Given the description of an element on the screen output the (x, y) to click on. 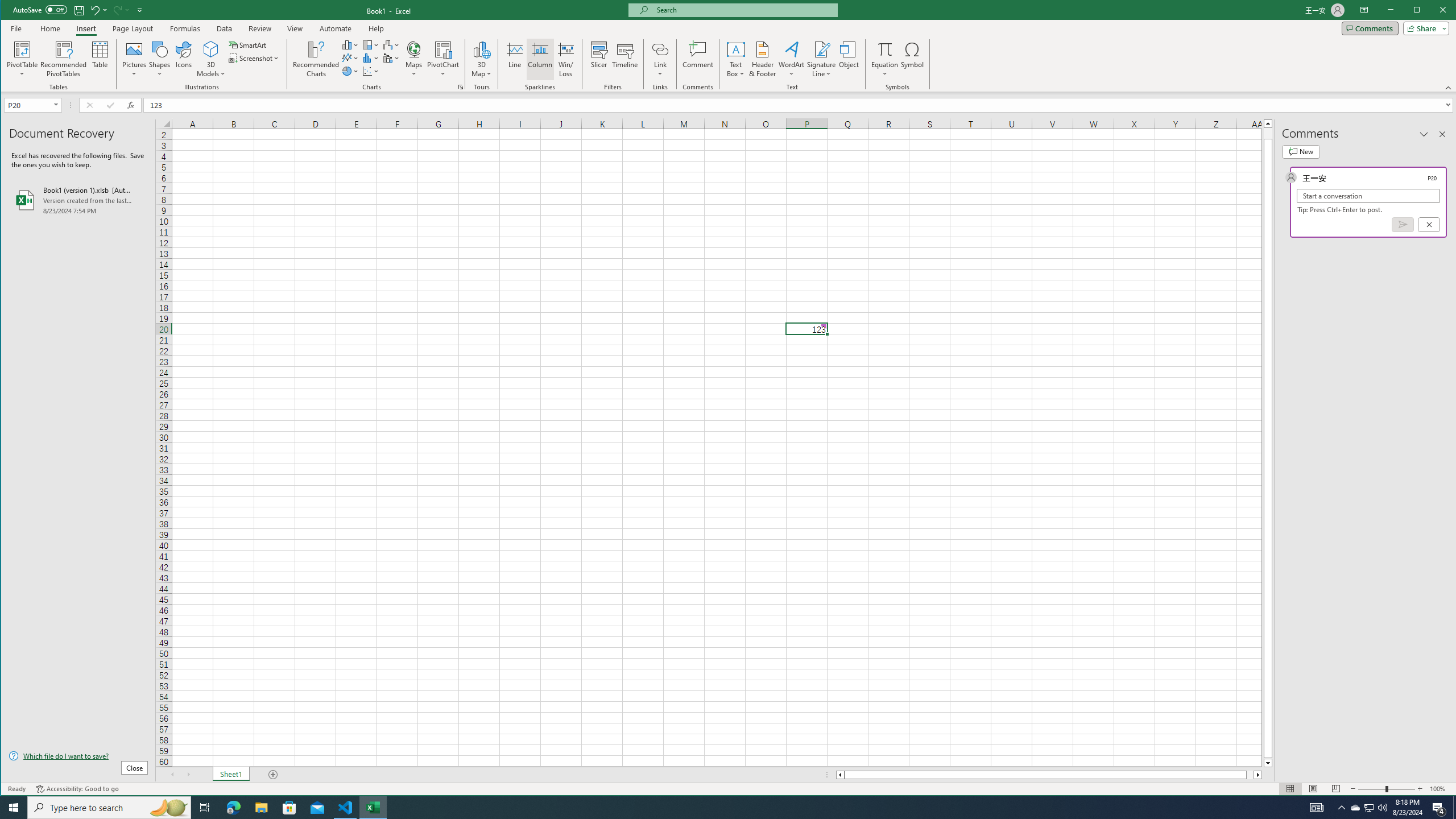
Insert Hierarchy Chart (371, 44)
Action Center, 4 new notifications (1439, 807)
Link (659, 59)
Comment (697, 59)
Column (540, 59)
